Given the description of an element on the screen output the (x, y) to click on. 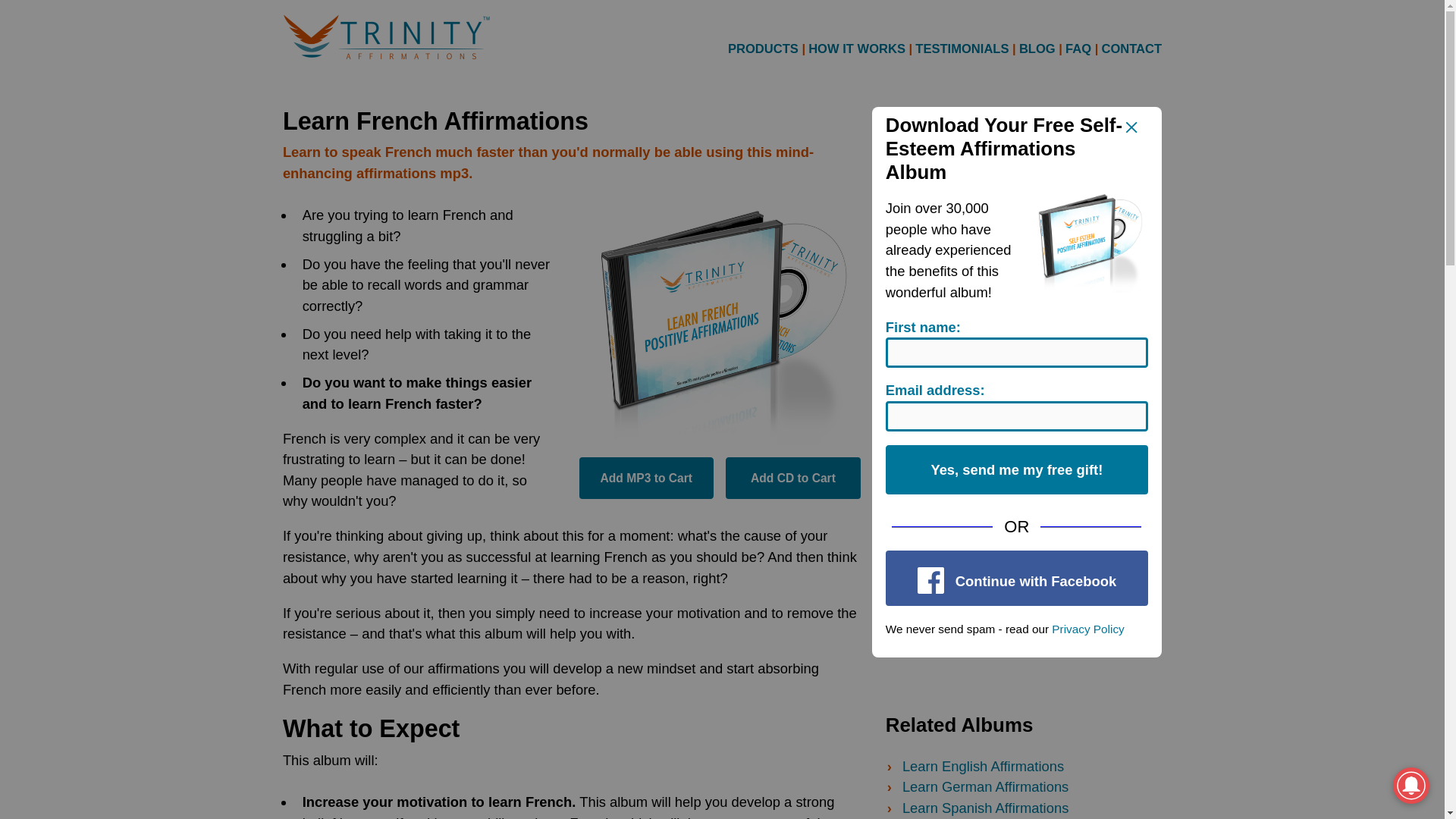
PRODUCTS (762, 47)
Learn English Affirmations (983, 765)
Privacy Policy (1087, 628)
Add MP3 to Cart (646, 477)
BLOG (1037, 49)
Learn Spanish Affirmations (985, 807)
Yes, send me my free gift! (1016, 469)
Add CD to Cart (792, 477)
CONTACT (1130, 49)
Continue with Facebook (1016, 578)
